Given the description of an element on the screen output the (x, y) to click on. 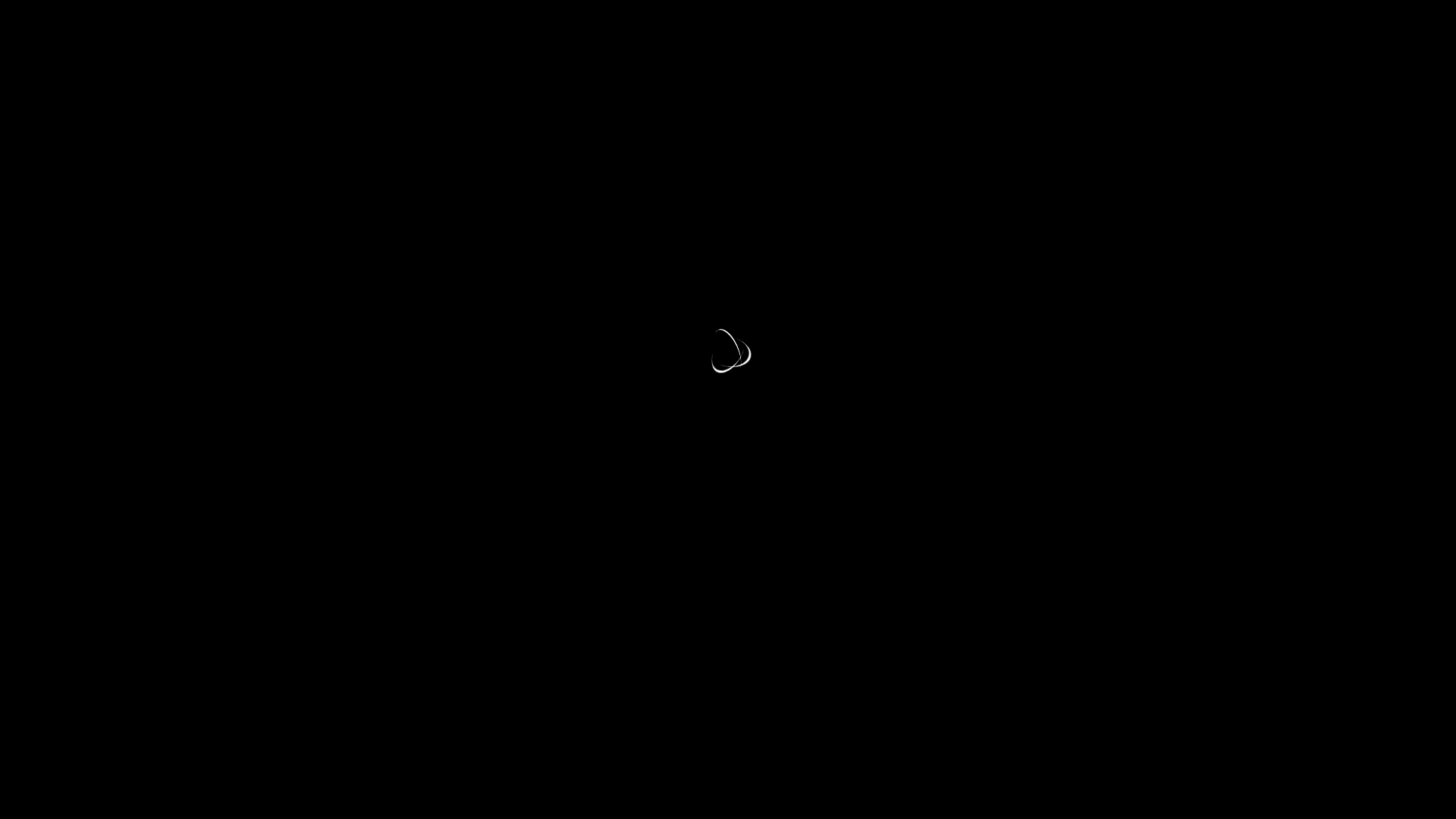
LiveInternet Element type: hover (0, 6)
